Given the description of an element on the screen output the (x, y) to click on. 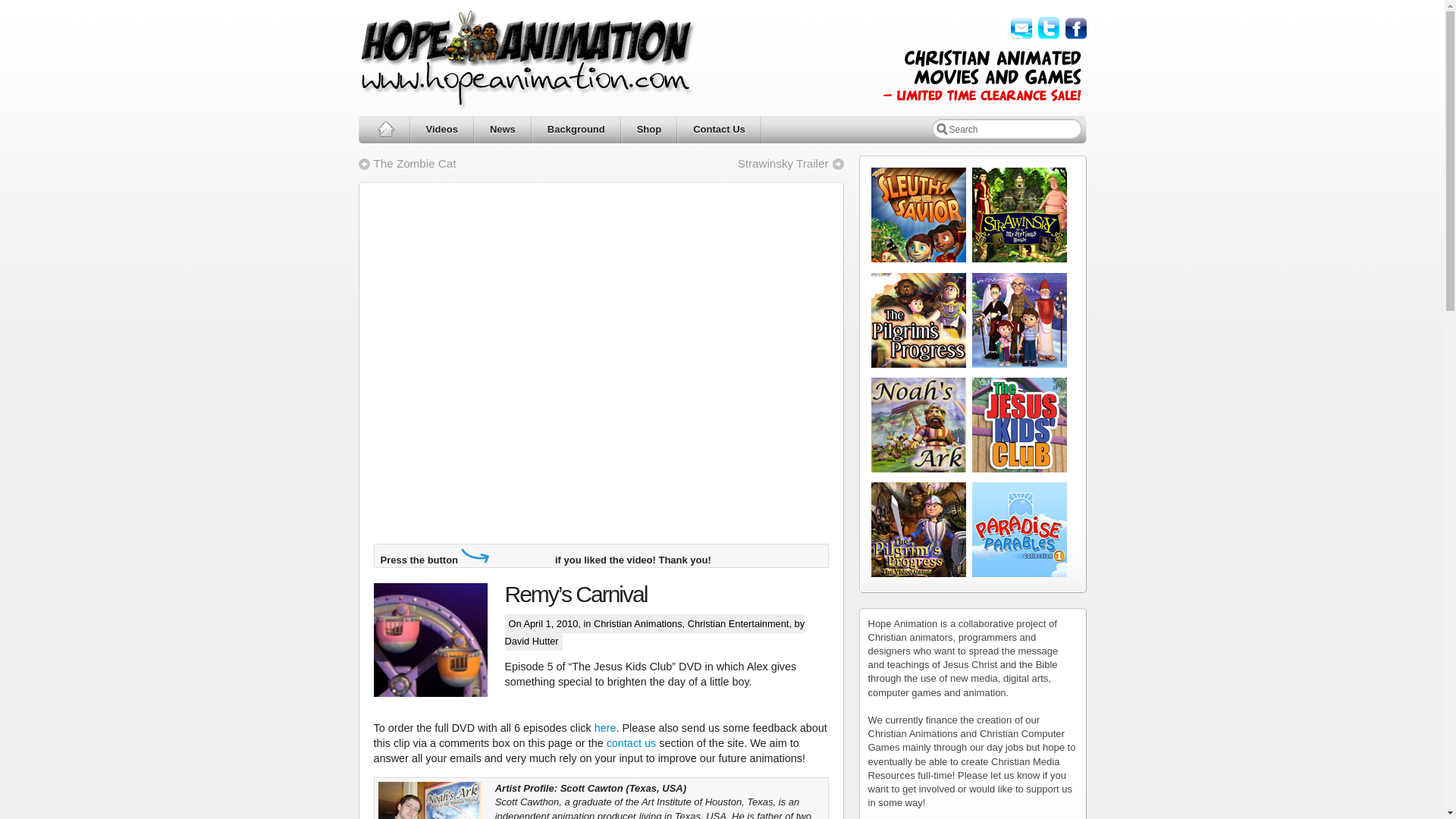
Home (384, 131)
Shop (649, 129)
Christian Entertainment (738, 623)
contact us (631, 743)
Background (576, 129)
Search (1011, 127)
Sleuths and Savior (917, 258)
Scott Cawton (428, 800)
Strawinsky (1019, 258)
Pilgrims Progress (917, 364)
Pilgrims Progress Game (917, 573)
Christian Animations (638, 623)
The Jesus Kids Club (1019, 469)
Strawinsky Trailer (791, 163)
here (604, 727)
